Given the description of an element on the screen output the (x, y) to click on. 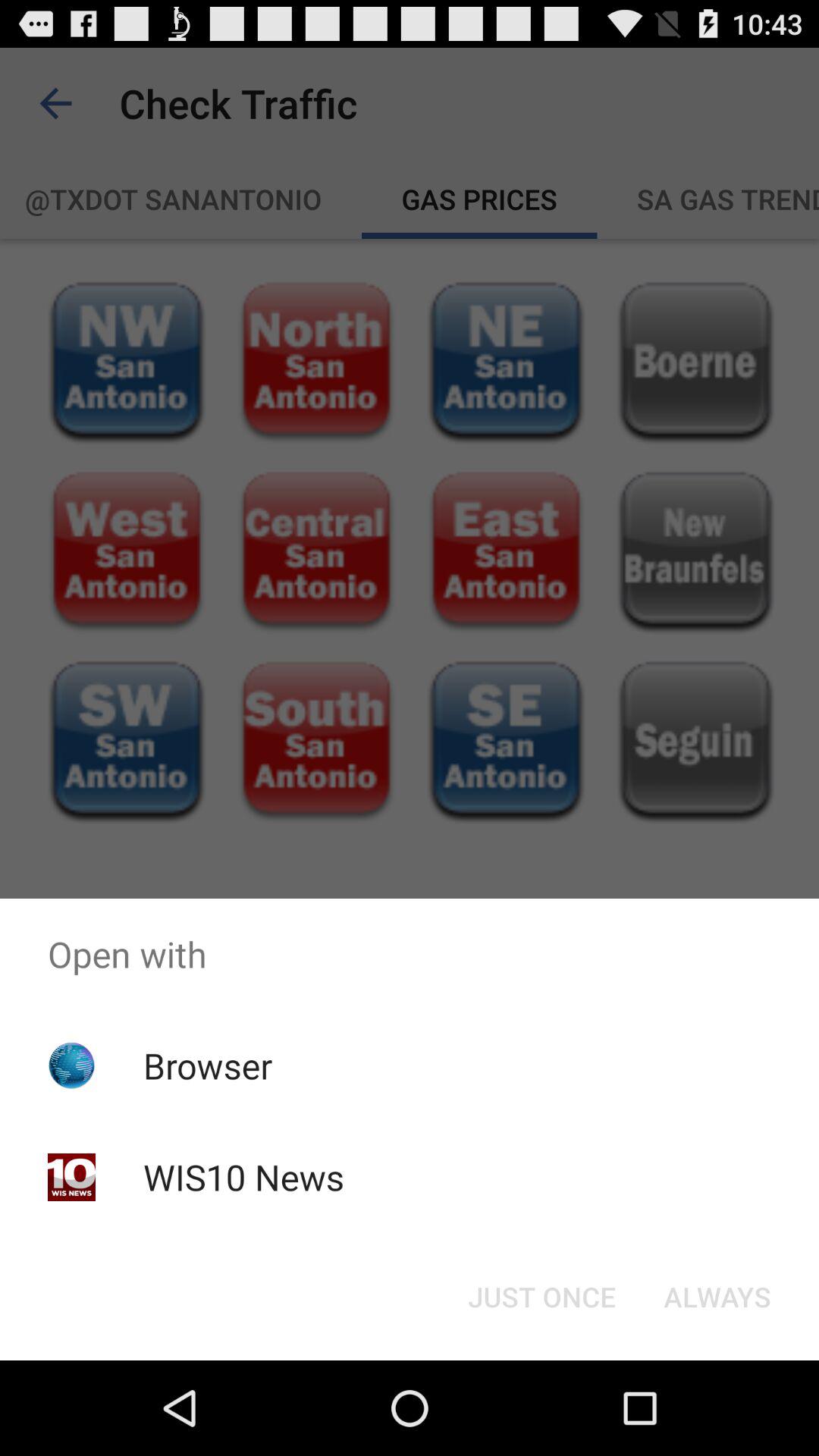
select button next to just once button (717, 1296)
